Given the description of an element on the screen output the (x, y) to click on. 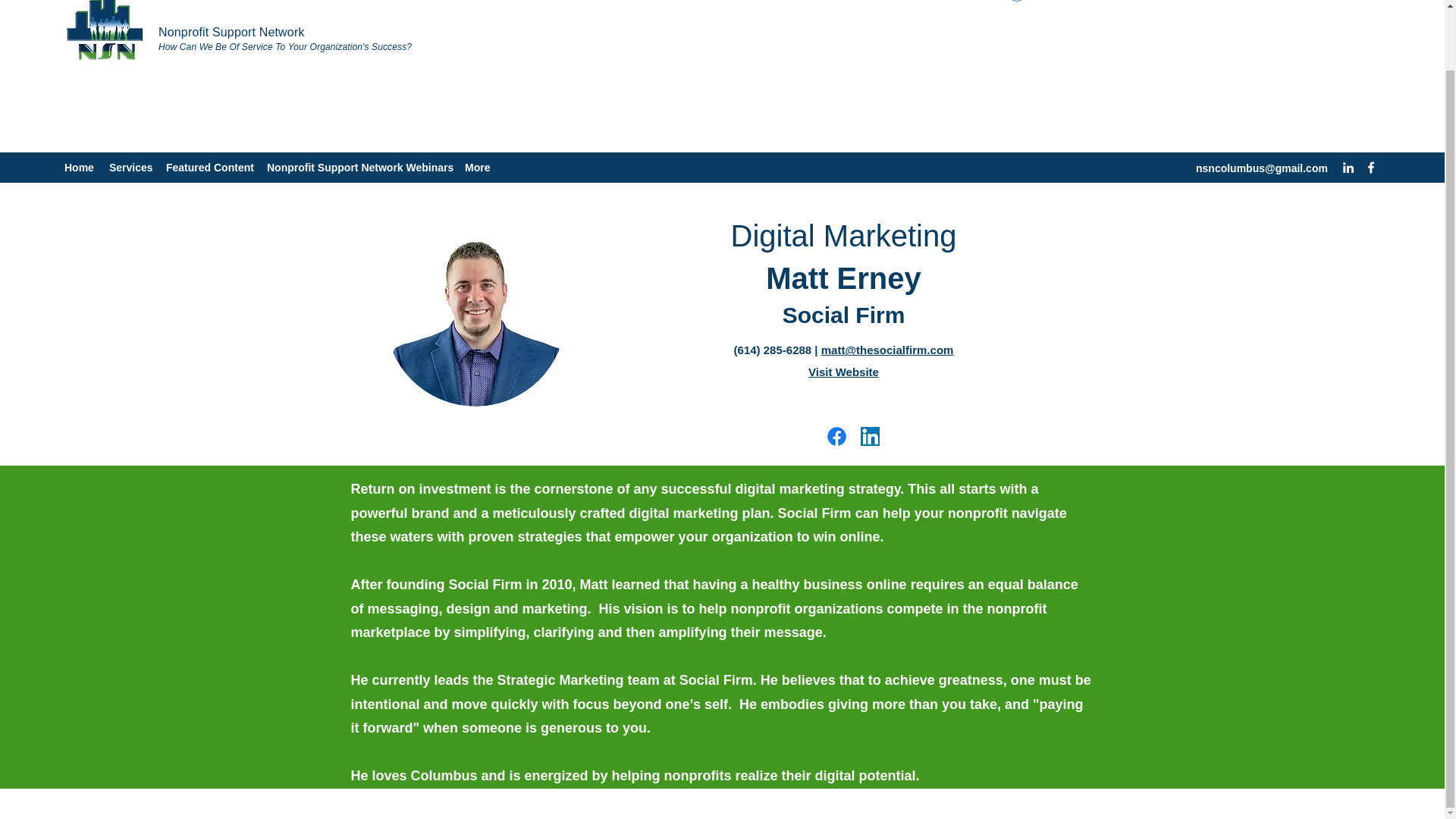
Home (78, 167)
guy2.jpg (475, 316)
Featured Content (208, 167)
Nonprofit Support Network Webinars (358, 167)
Services (129, 167)
Log In (1040, 4)
